Given the description of an element on the screen output the (x, y) to click on. 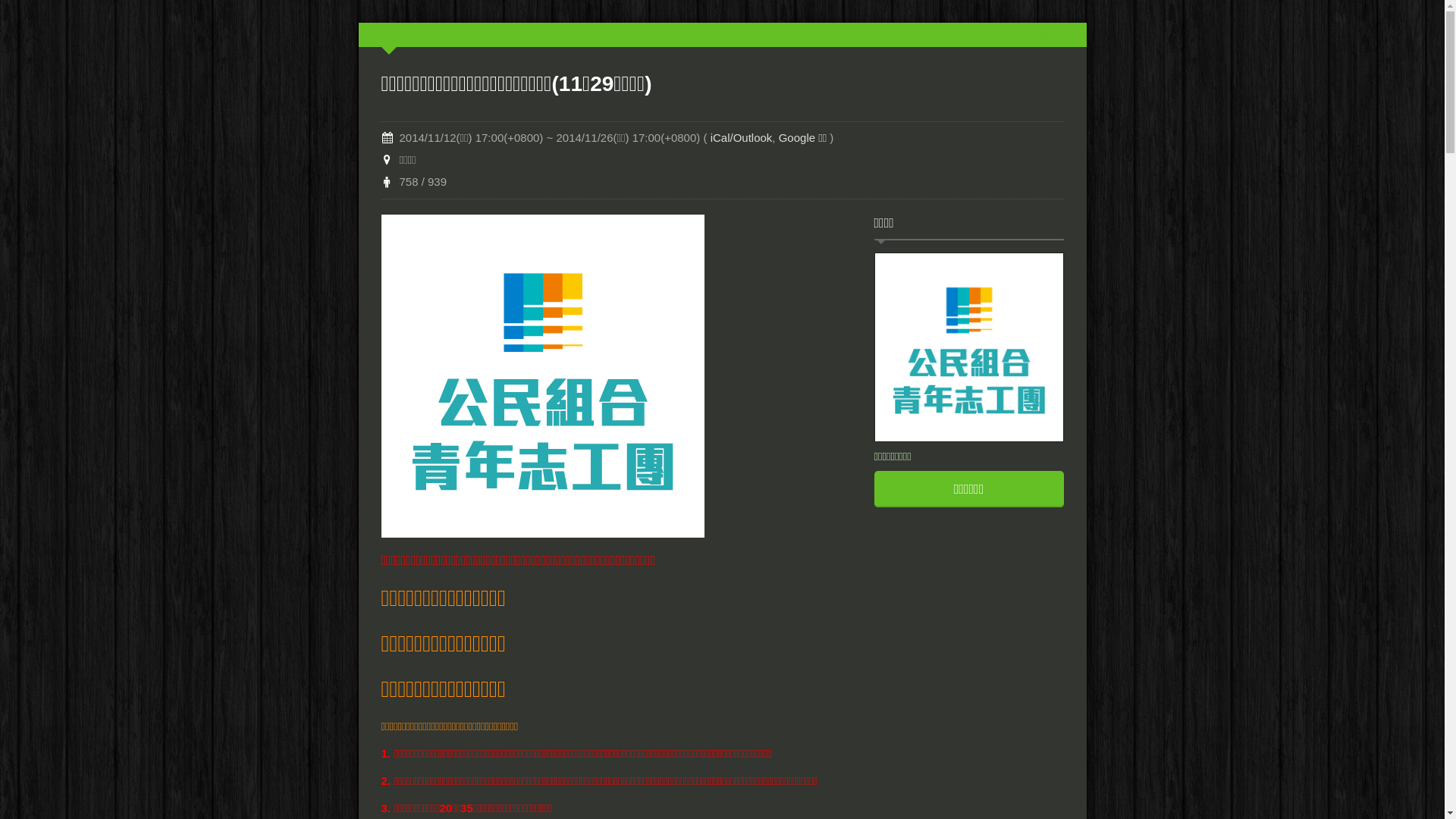
iCal/Outlook Element type: text (741, 137)
Tweet Element type: text (1047, 37)
